Given the description of an element on the screen output the (x, y) to click on. 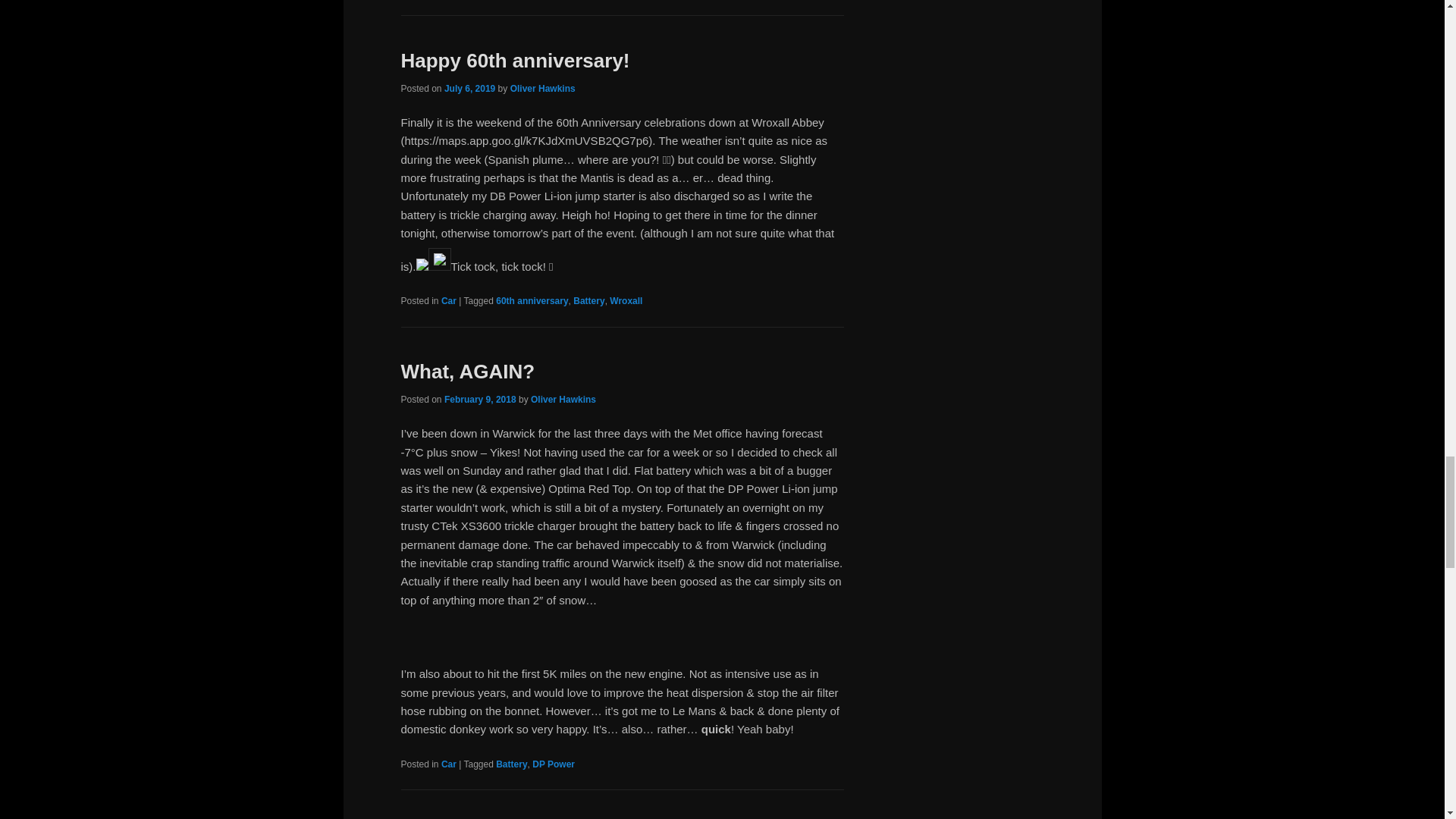
Oliver Hawkins (543, 88)
July 6, 2019 (469, 88)
Car (449, 300)
60th anniversary (531, 300)
February 9, 2018 (480, 398)
Happy 60th anniversary! (514, 60)
Battery (588, 300)
Wroxall (626, 300)
Oliver Hawkins (563, 398)
What, AGAIN? (467, 371)
